Given the description of an element on the screen output the (x, y) to click on. 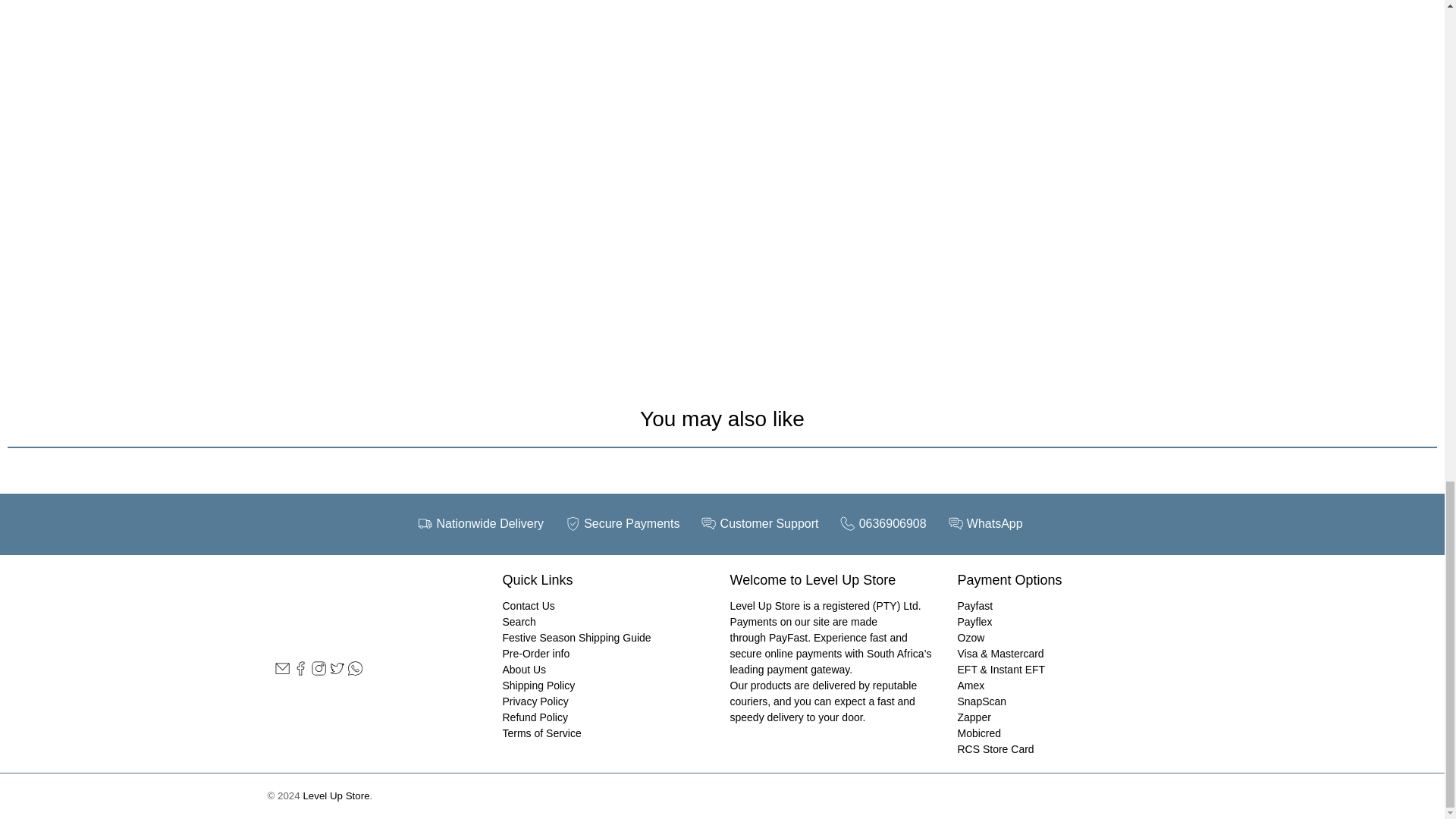
Email Level Up Store (281, 671)
Level Up Store on Facebook (300, 671)
Level Up Store (359, 608)
